Given the description of an element on the screen output the (x, y) to click on. 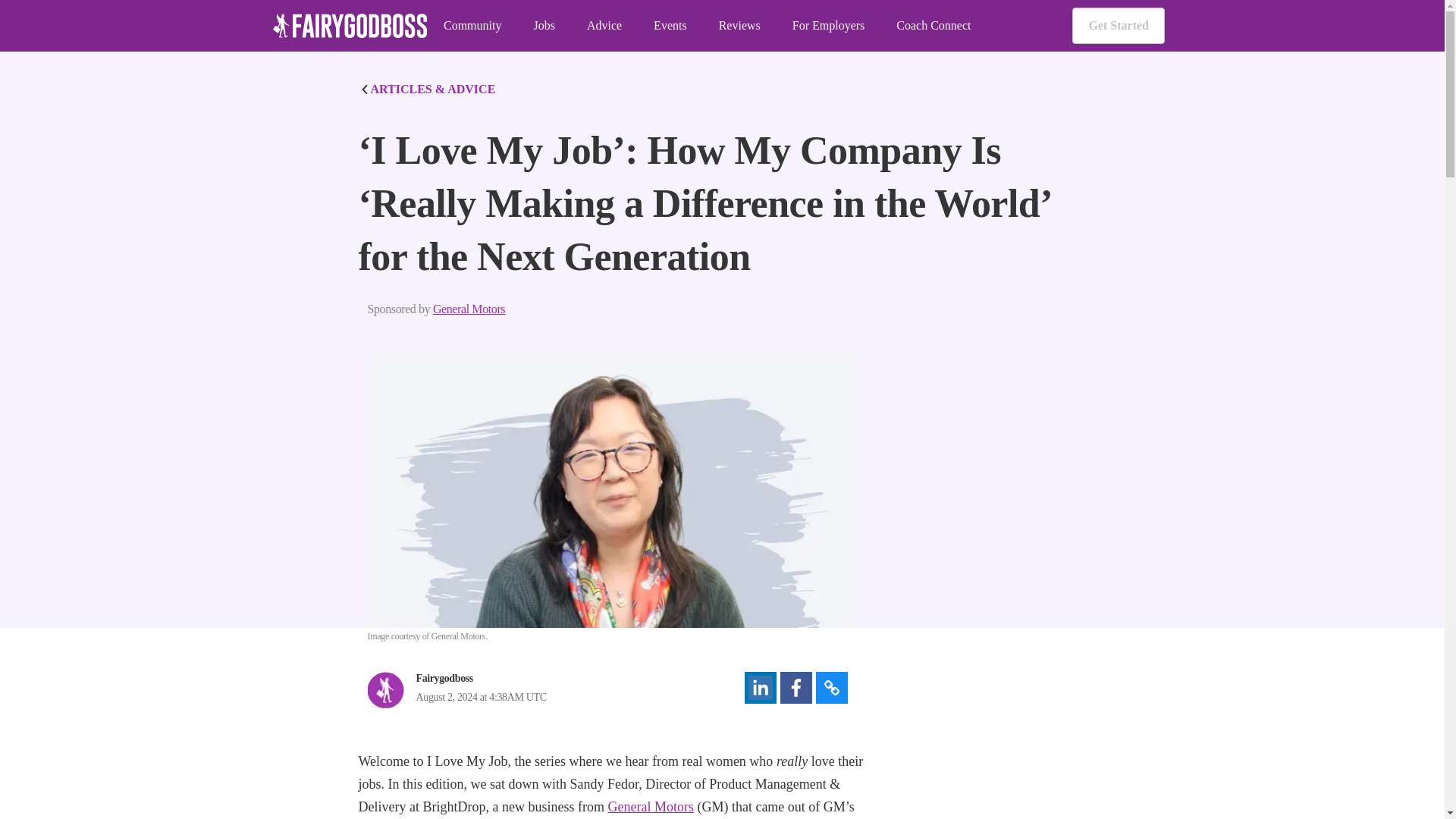
For Employers (828, 25)
Advice (603, 25)
Reviews (739, 25)
Events (670, 25)
Events (670, 25)
Coach Connect (933, 25)
For Employers (828, 25)
General Motors (650, 806)
Coach Connect (933, 25)
Community (472, 25)
Advice (603, 25)
General Motors (468, 309)
Community (472, 25)
Reviews (739, 25)
Jobs (543, 25)
